Given the description of an element on the screen output the (x, y) to click on. 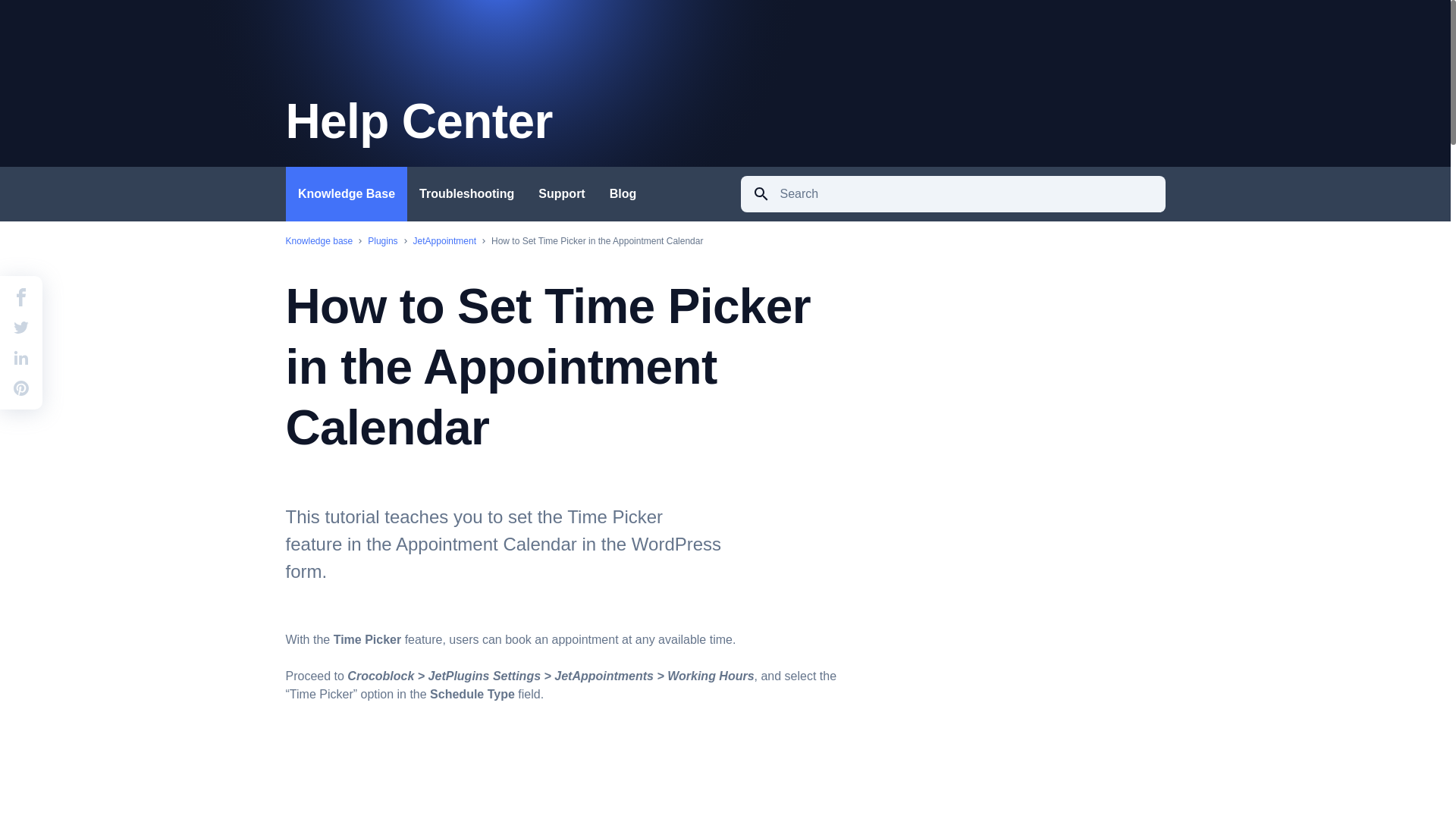
Knowledge base (318, 240)
Support (560, 194)
Troubleshooting (466, 194)
Share on Pinterest (20, 388)
Blog (621, 194)
Plugins (382, 245)
Share on Facebook (20, 297)
Share on LinkedIn (20, 357)
Share on Twitter (20, 327)
JetAppointment (444, 245)
Knowledge Base (345, 194)
